Given the description of an element on the screen output the (x, y) to click on. 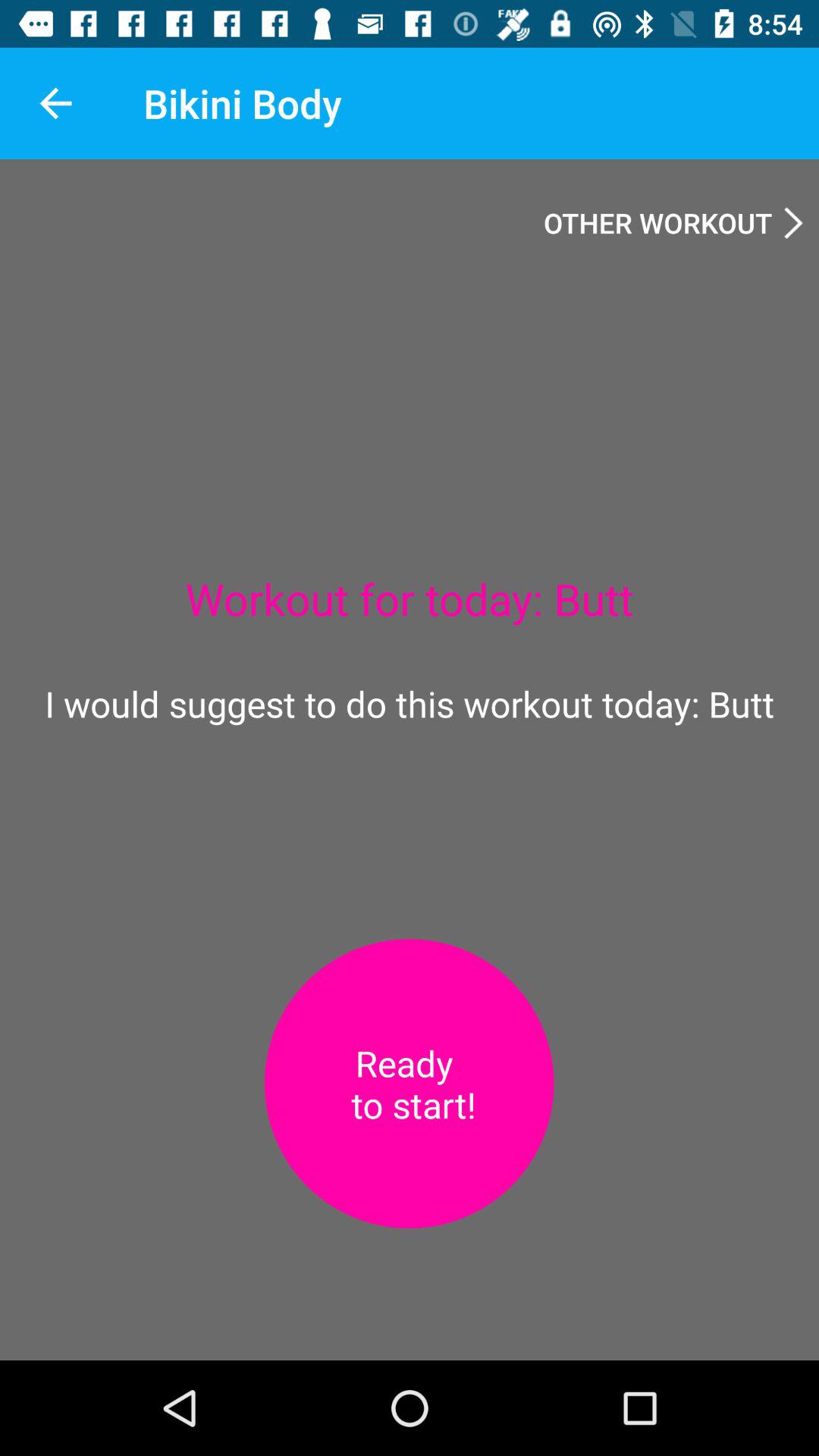
jump to other workout (673, 222)
